Given the description of an element on the screen output the (x, y) to click on. 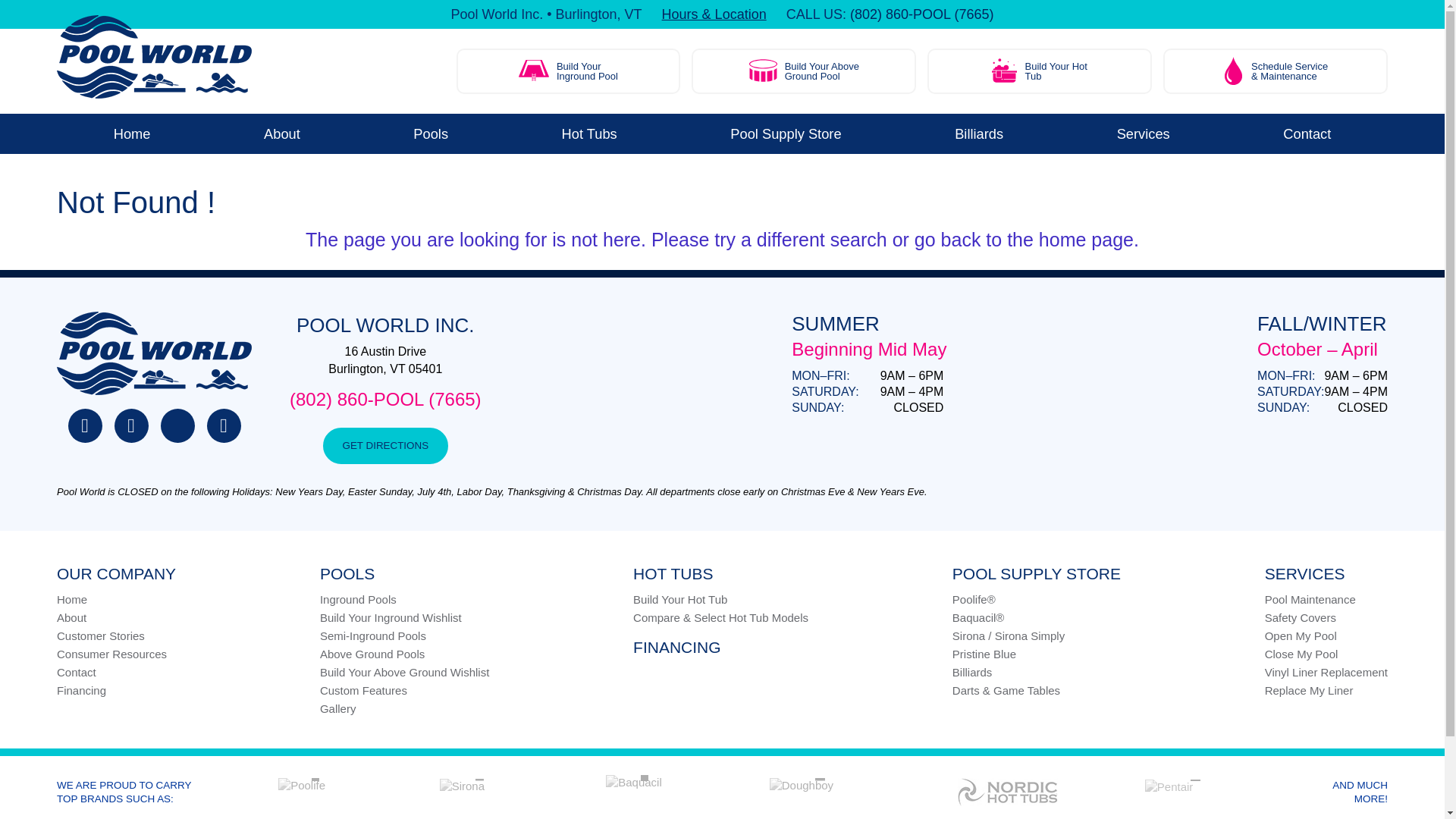
Services (1143, 133)
Home (131, 133)
Billiards (978, 133)
Hot Tubs (803, 71)
Pool Supply Store (1039, 71)
Contact (589, 133)
Pools (786, 133)
About (1308, 133)
